Given the description of an element on the screen output the (x, y) to click on. 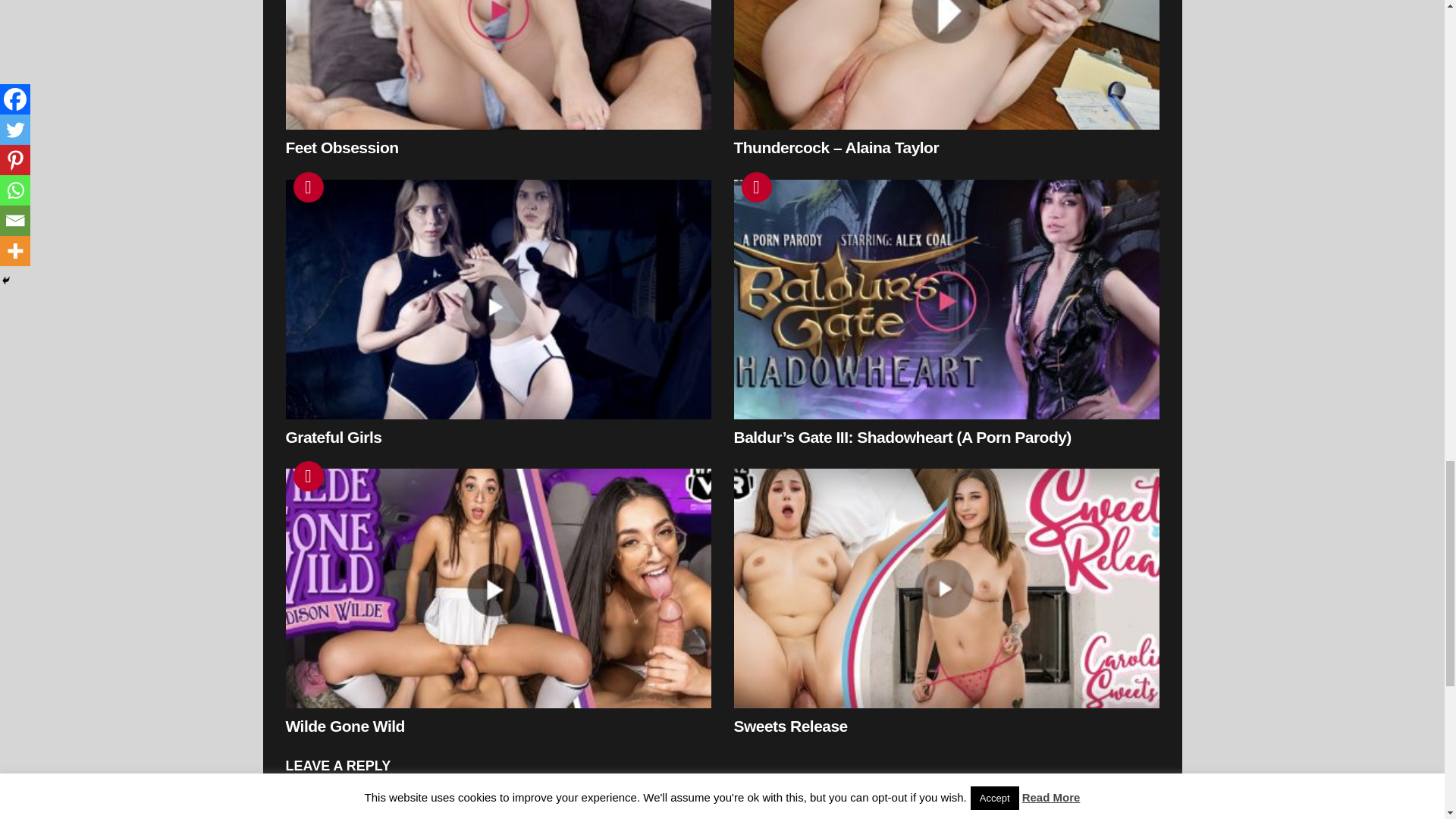
Feet Obsession (497, 64)
